Given the description of an element on the screen output the (x, y) to click on. 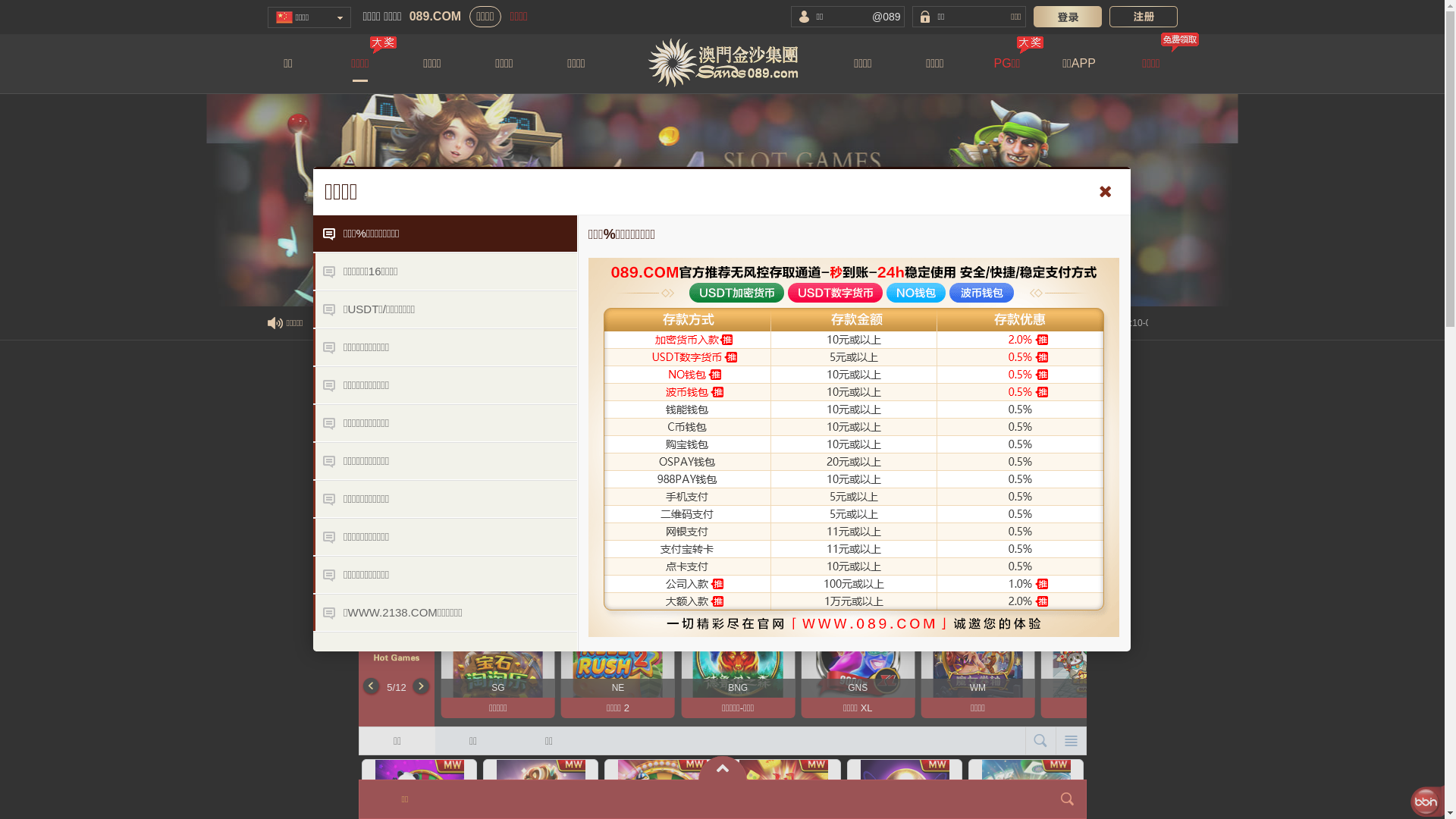
089.COM Element type: text (435, 16)
